Given the description of an element on the screen output the (x, y) to click on. 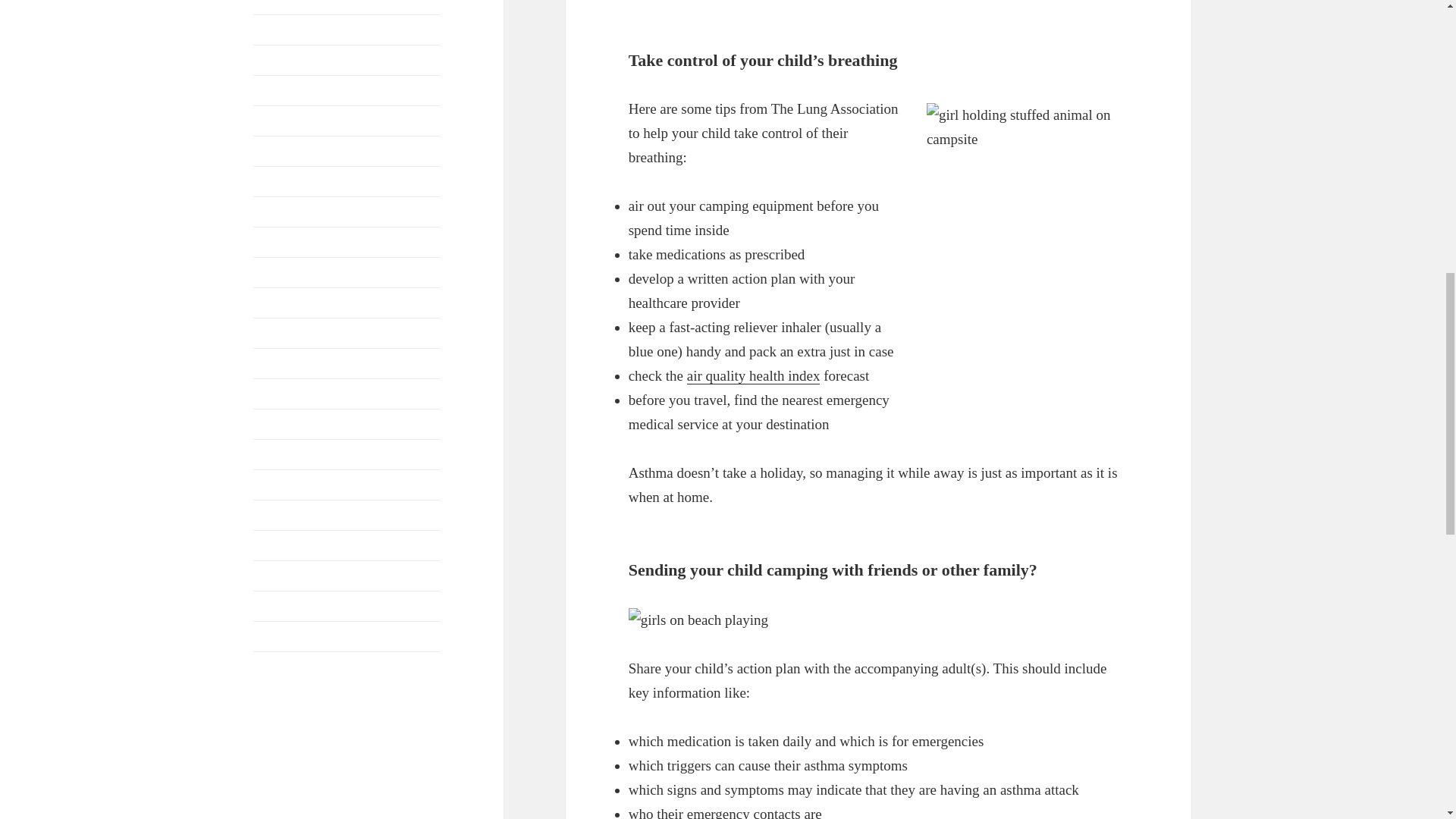
Photography (284, 454)
Hiking (269, 211)
Paddling (275, 302)
Roofed Accommodations (315, 484)
Park Events (282, 332)
Geology (274, 151)
Park Products (286, 393)
Park Partners (285, 363)
Nature Knowledge (299, 241)
Summer (273, 605)
